Given the description of an element on the screen output the (x, y) to click on. 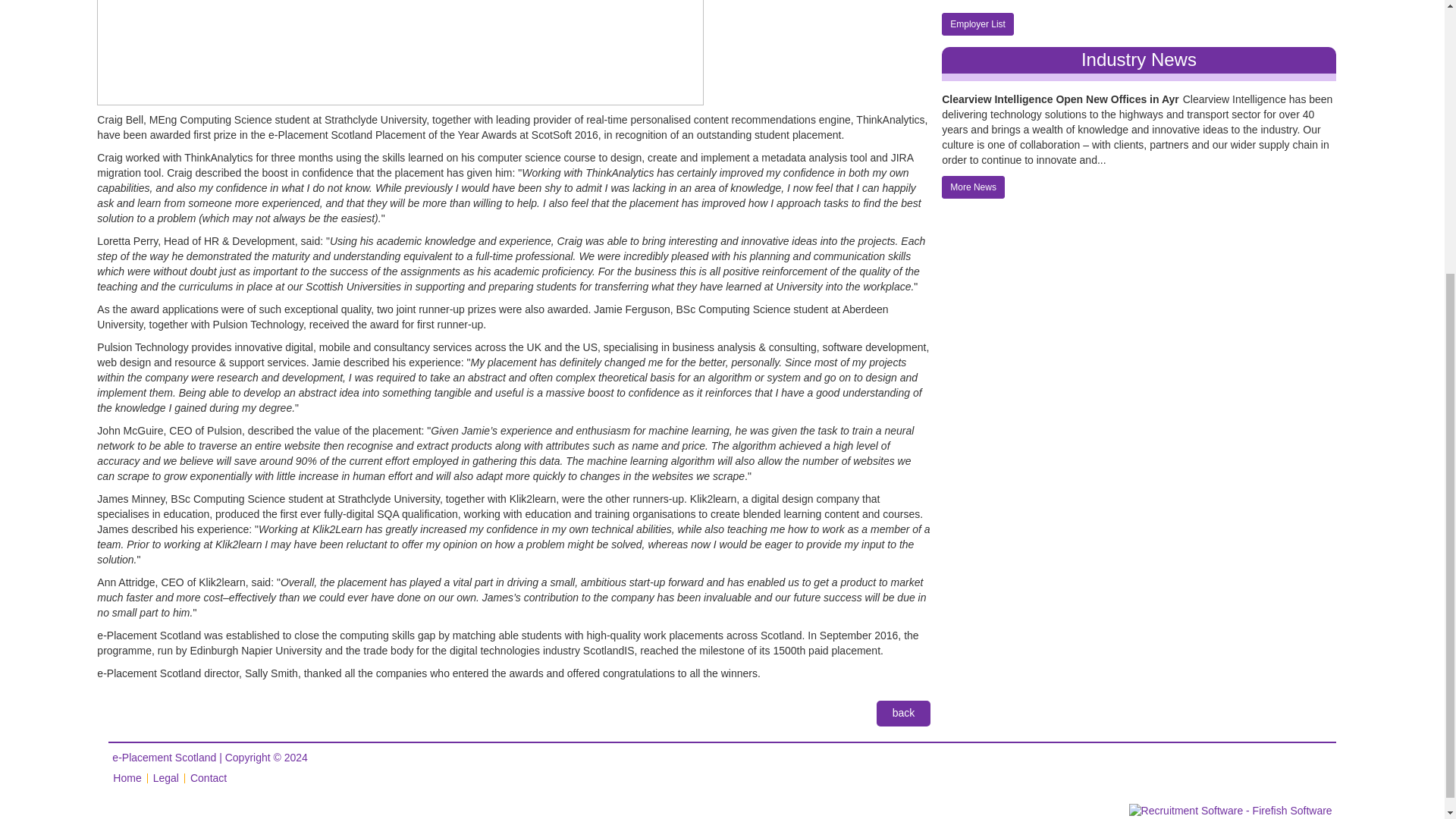
Back (903, 713)
Clearview Intelligence Open New Offices in Ayr (1060, 99)
Contact (208, 777)
Recruitment Software - Firefish Software (1230, 810)
More News (973, 187)
Employer List (977, 24)
